Given the description of an element on the screen output the (x, y) to click on. 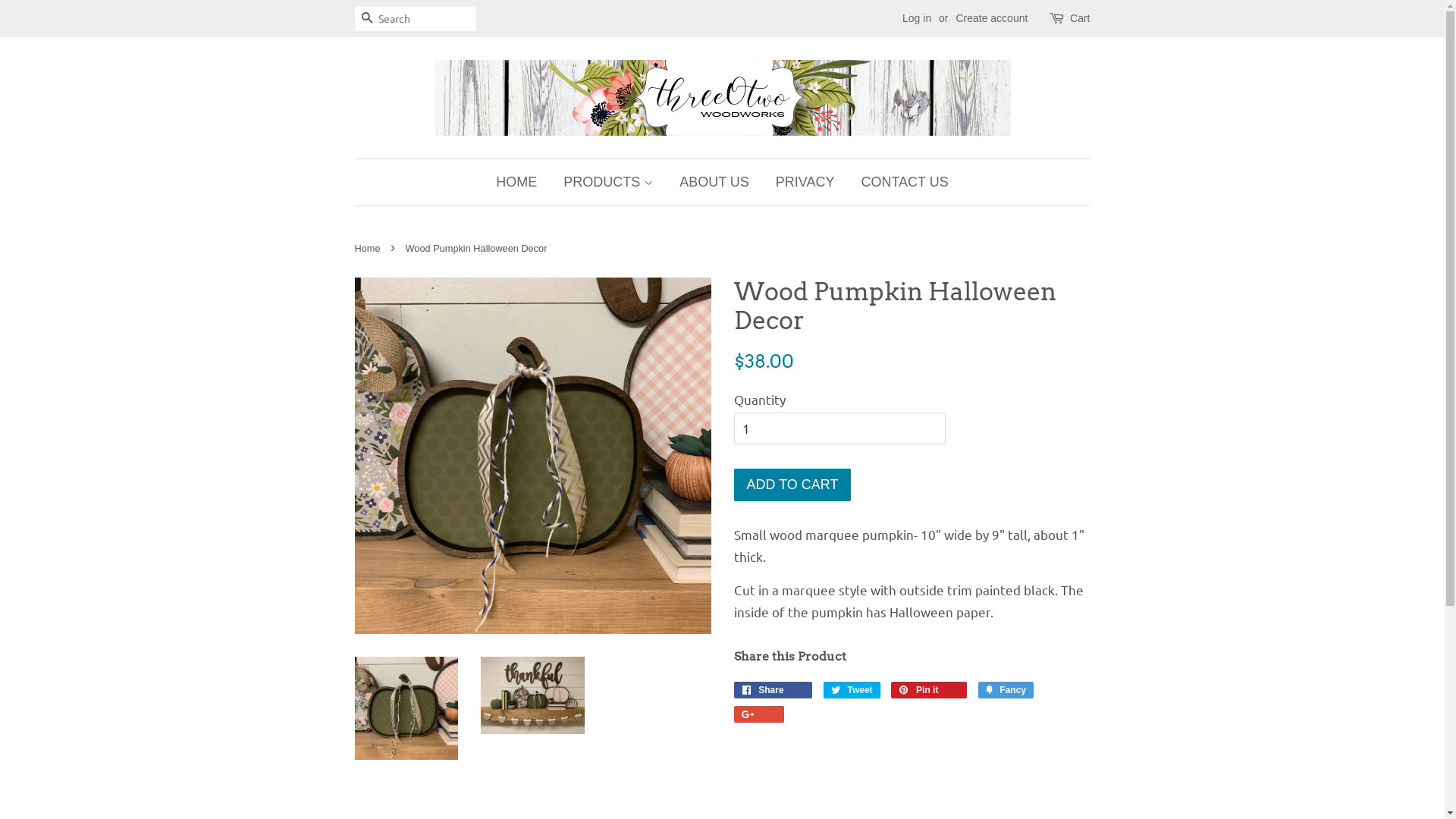
Log in Element type: text (916, 18)
PRODUCTS Element type: text (608, 182)
Tweet
Tweet on Twitter Element type: text (851, 689)
SEARCH Element type: text (366, 18)
ADD TO CART Element type: text (792, 485)
+1 on Google Plus Element type: text (759, 714)
Home Element type: text (369, 248)
Pin it
Pin on Pinterest Element type: text (928, 689)
Cart Element type: text (1079, 18)
HOME Element type: text (521, 182)
ABOUT US Element type: text (714, 182)
CONTACT US Element type: text (898, 182)
PRIVACY Element type: text (805, 182)
Create account Element type: text (991, 18)
Fancy
Add to Fancy Element type: text (1005, 689)
Share
Share on Facebook Element type: text (773, 689)
